Given the description of an element on the screen output the (x, y) to click on. 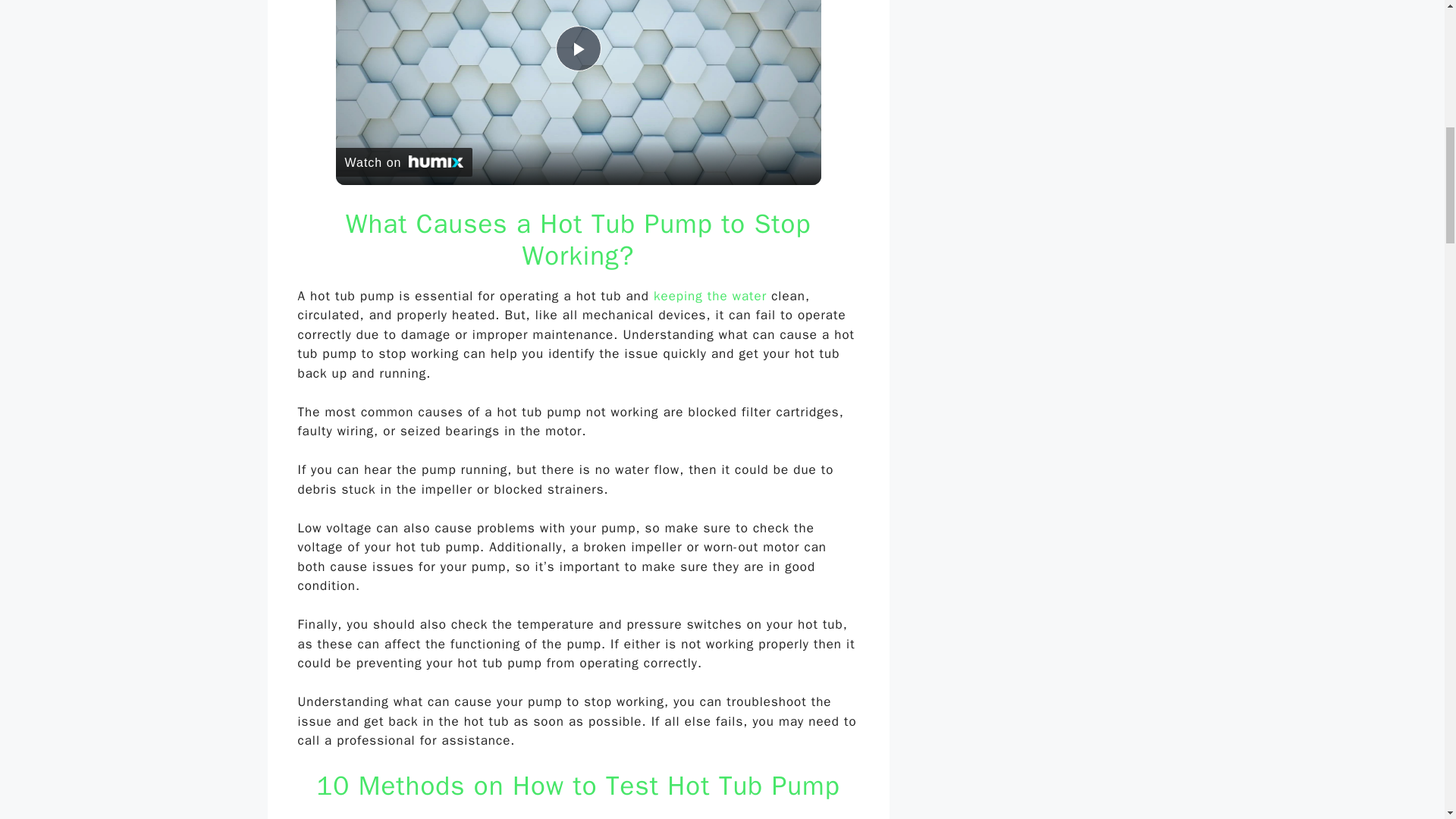
Play Video (576, 48)
keeping the water (710, 295)
Play Video (576, 48)
Scroll back to top (1406, 720)
Watch on (402, 162)
